Given the description of an element on the screen output the (x, y) to click on. 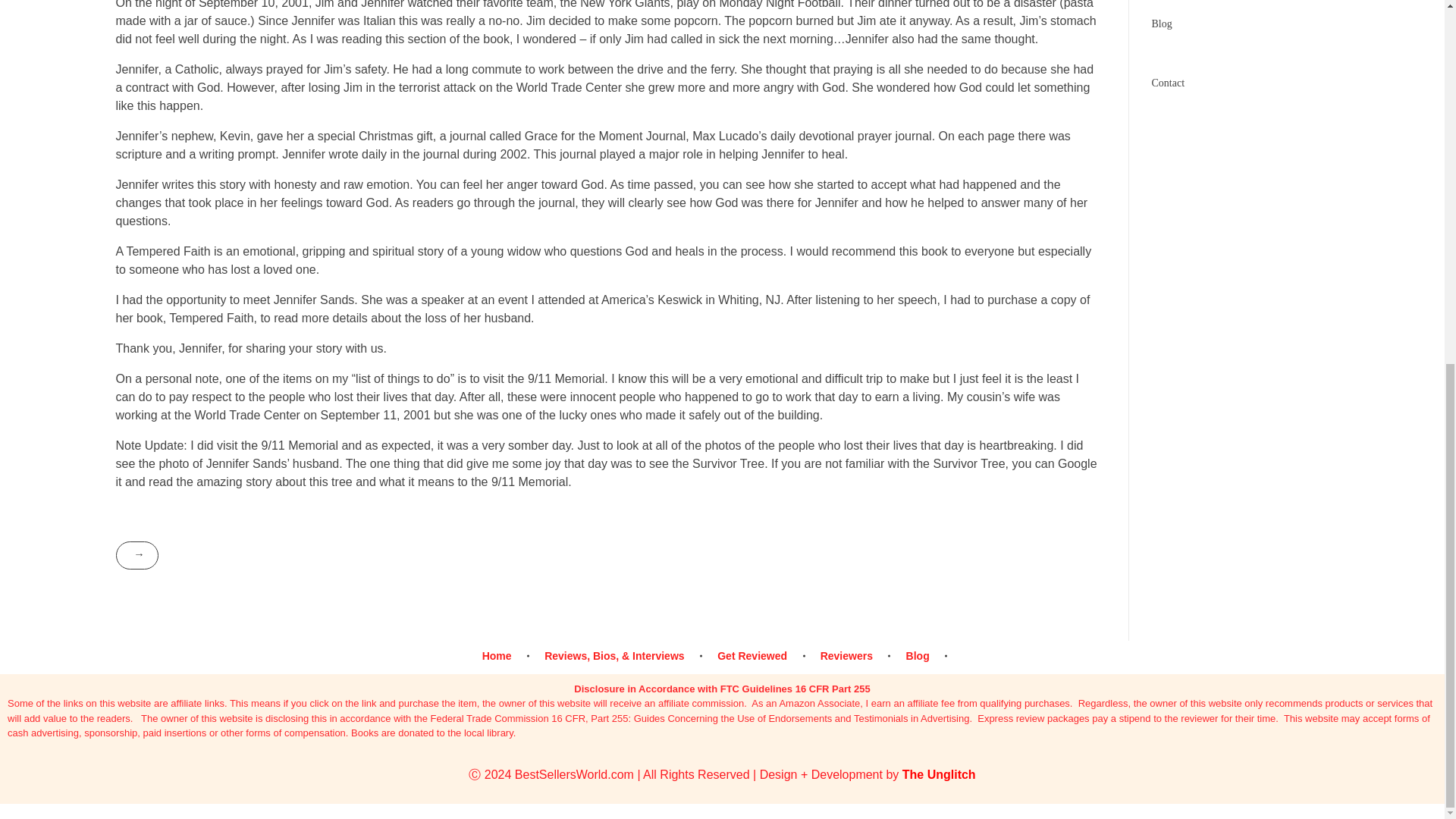
Get Reviewed (754, 656)
Reviewers (848, 656)
Home (506, 656)
Blog (920, 656)
Contact (1168, 82)
Blog (1161, 23)
The Unglitch (938, 774)
